Given the description of an element on the screen output the (x, y) to click on. 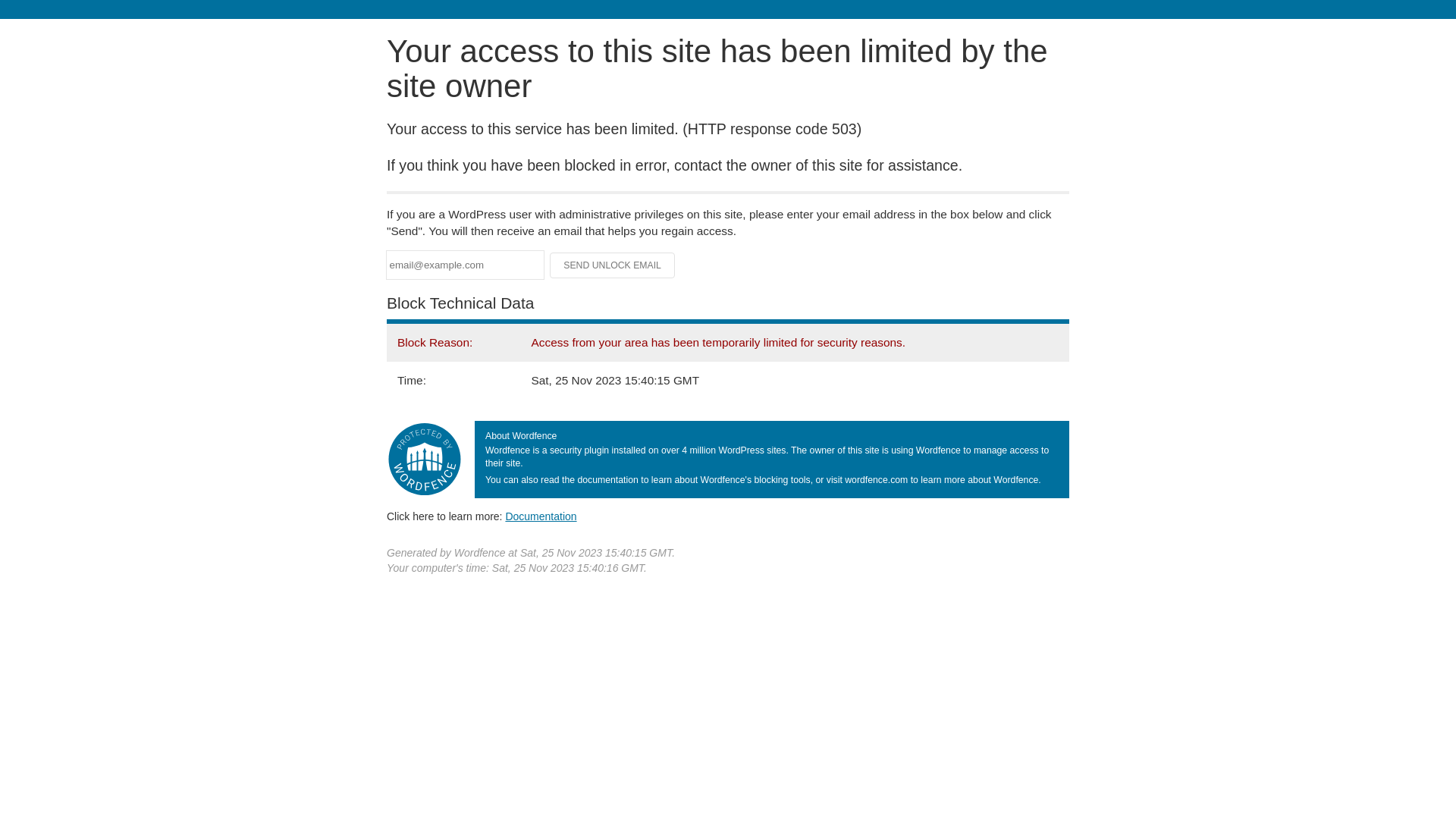
Send Unlock Email Element type: text (612, 265)
Documentation Element type: text (540, 516)
